Given the description of an element on the screen output the (x, y) to click on. 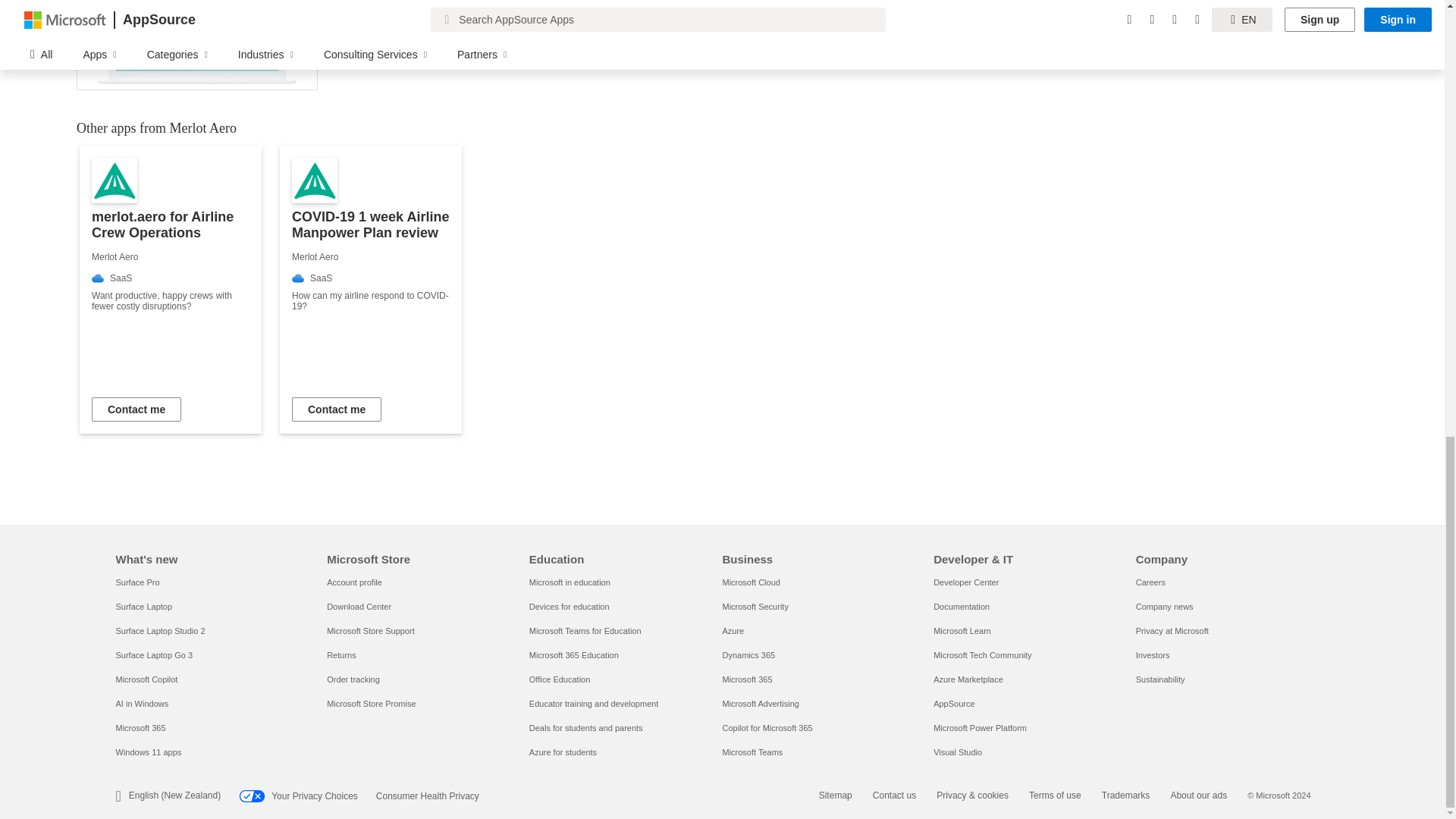
Microsoft Store Support (370, 630)
Windows 11 apps (147, 751)
Microsoft Copilot (146, 678)
Microsoft 365 (140, 727)
Contact me (336, 409)
Download Center (358, 605)
Surface Laptop Studio 2 (160, 630)
Surface Laptop Go 3 (153, 655)
Account profile (353, 582)
Surface Pro (136, 582)
Surface Laptop (143, 605)
AI in Windows (141, 703)
Contact me (135, 409)
Returns (341, 655)
